Given the description of an element on the screen output the (x, y) to click on. 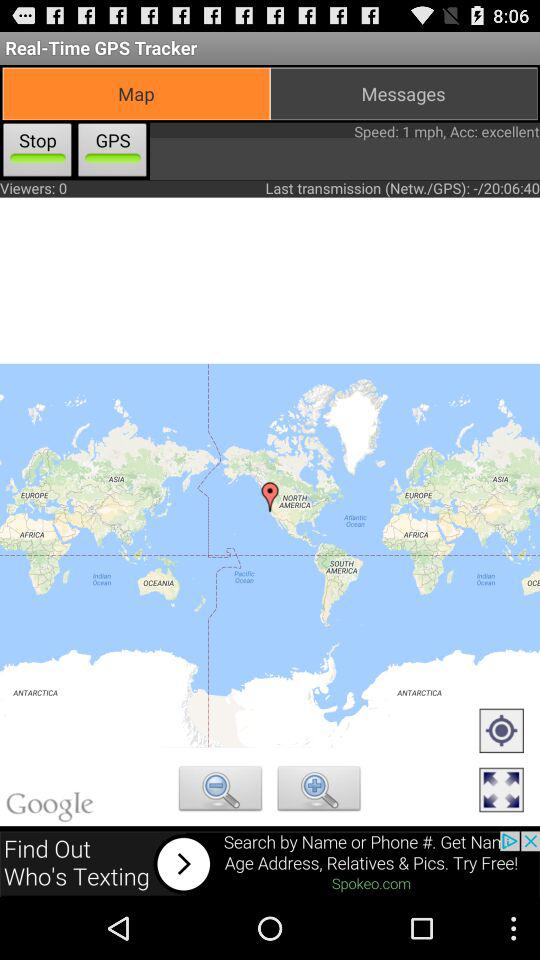
know about the advertisement (270, 864)
